Given the description of an element on the screen output the (x, y) to click on. 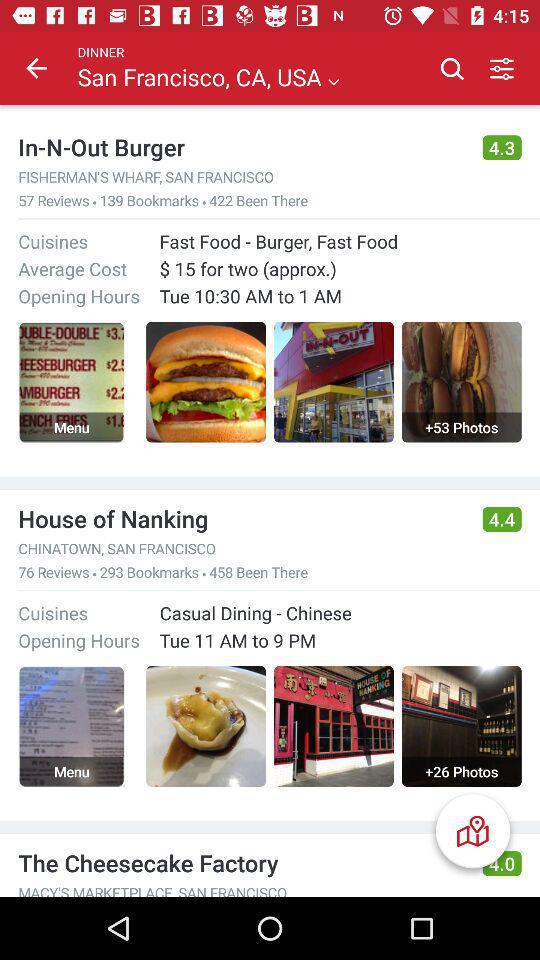
press item next to 76 reviews icon (94, 573)
